Given the description of an element on the screen output the (x, y) to click on. 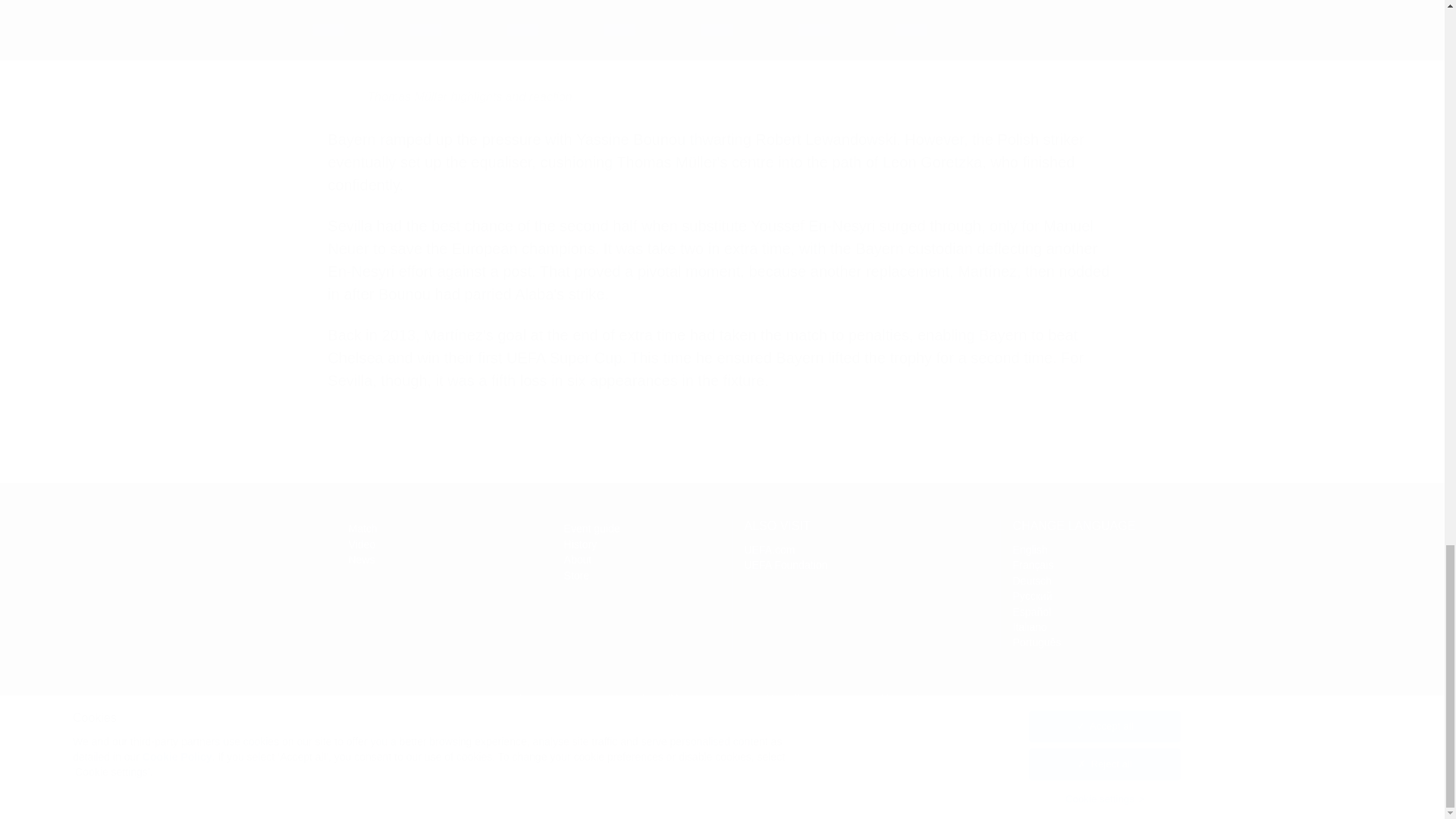
News (360, 559)
Terms and conditions (645, 698)
Video (361, 544)
News (223, 548)
Italiano (360, 559)
UEFA.com (1029, 626)
UEFA Foundation (769, 549)
UEFA.com (786, 564)
History (769, 549)
